Given the description of an element on the screen output the (x, y) to click on. 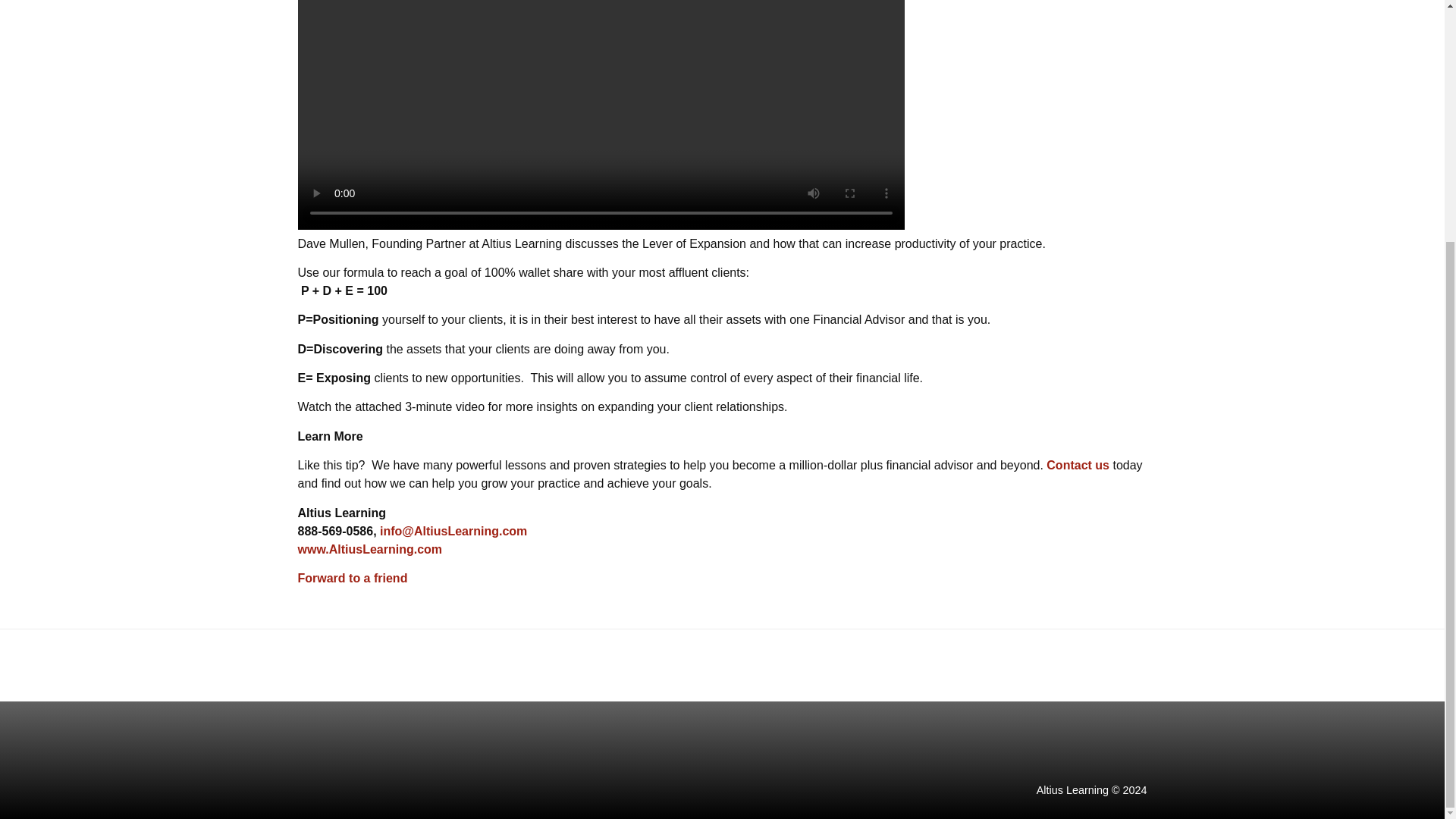
Contact us (1077, 464)
www.AltiusLearning.com (369, 549)
